Given the description of an element on the screen output the (x, y) to click on. 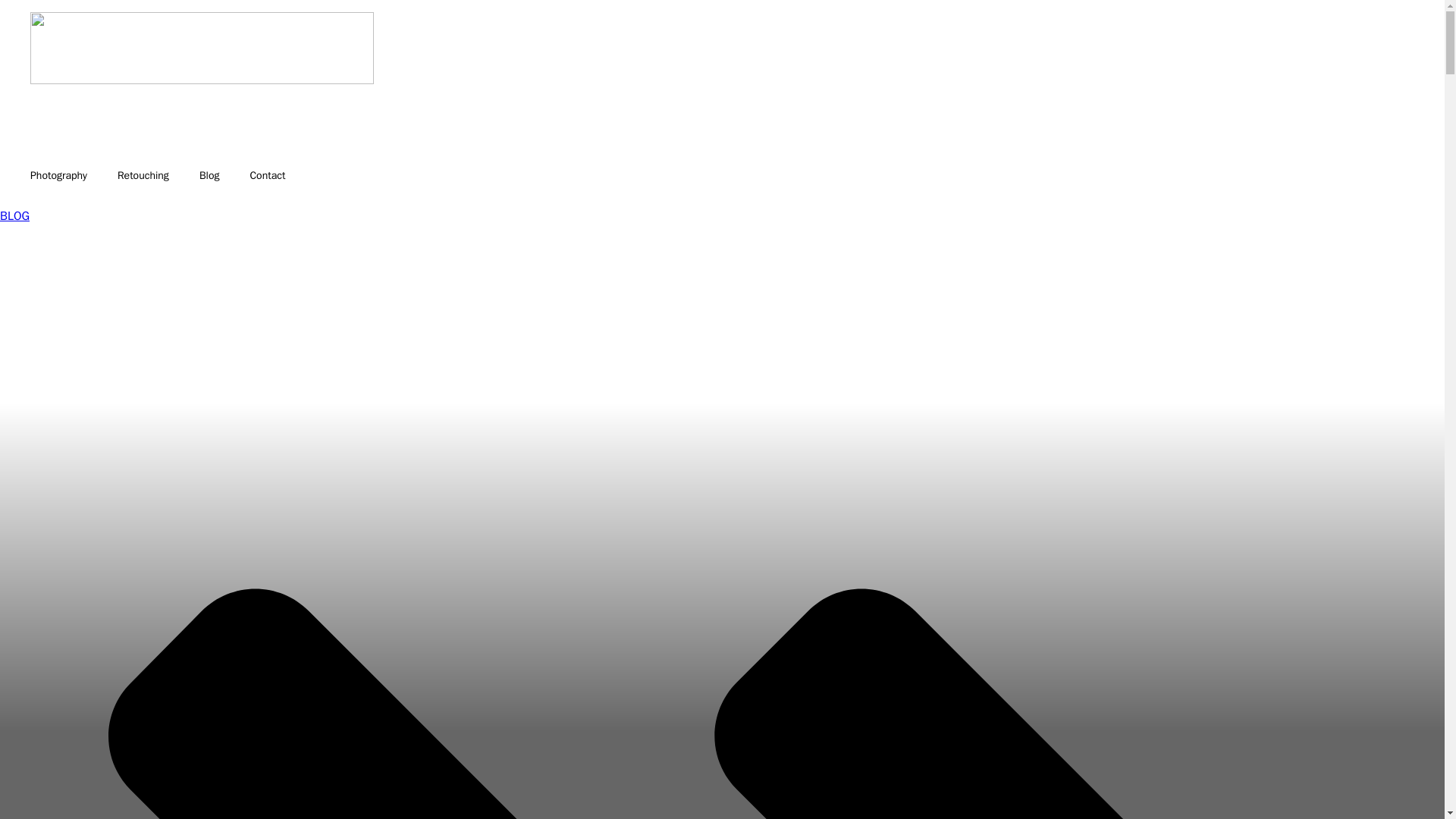
Contact (266, 175)
Blog (209, 175)
Photography (57, 175)
Retouching (142, 175)
BLOG (14, 215)
